Given the description of an element on the screen output the (x, y) to click on. 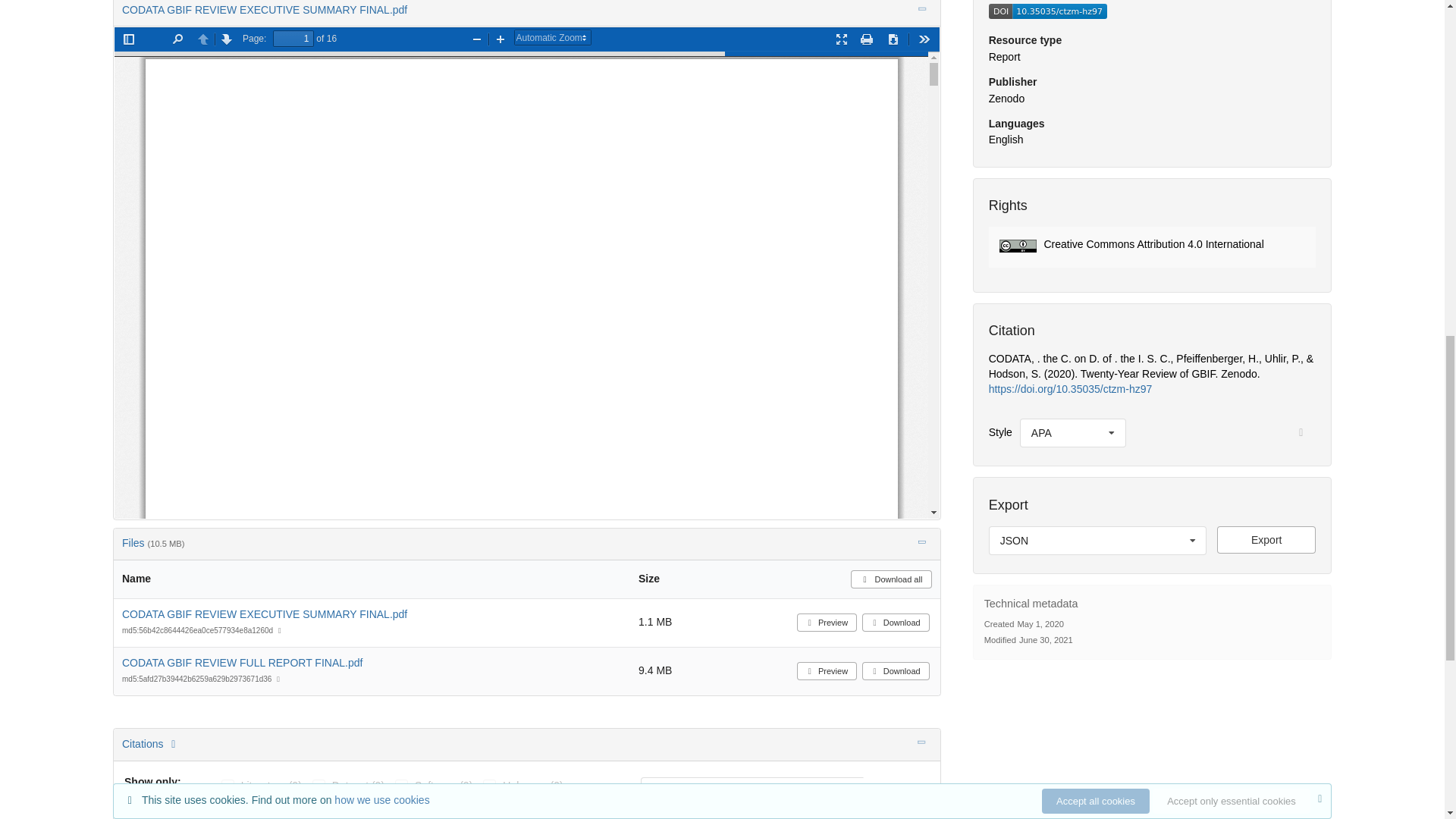
Download (895, 670)
Preview (826, 670)
Download file (1266, 539)
Download (895, 622)
Search (895, 791)
CODATA GBIF REVIEW EXECUTIVE SUMMARY FINAL.pdf (264, 613)
Preview (826, 622)
CODATA GBIF REVIEW FULL REPORT FINAL.pdf (242, 662)
Download all (890, 579)
Get the DOI badge! (1047, 15)
